Given the description of an element on the screen output the (x, y) to click on. 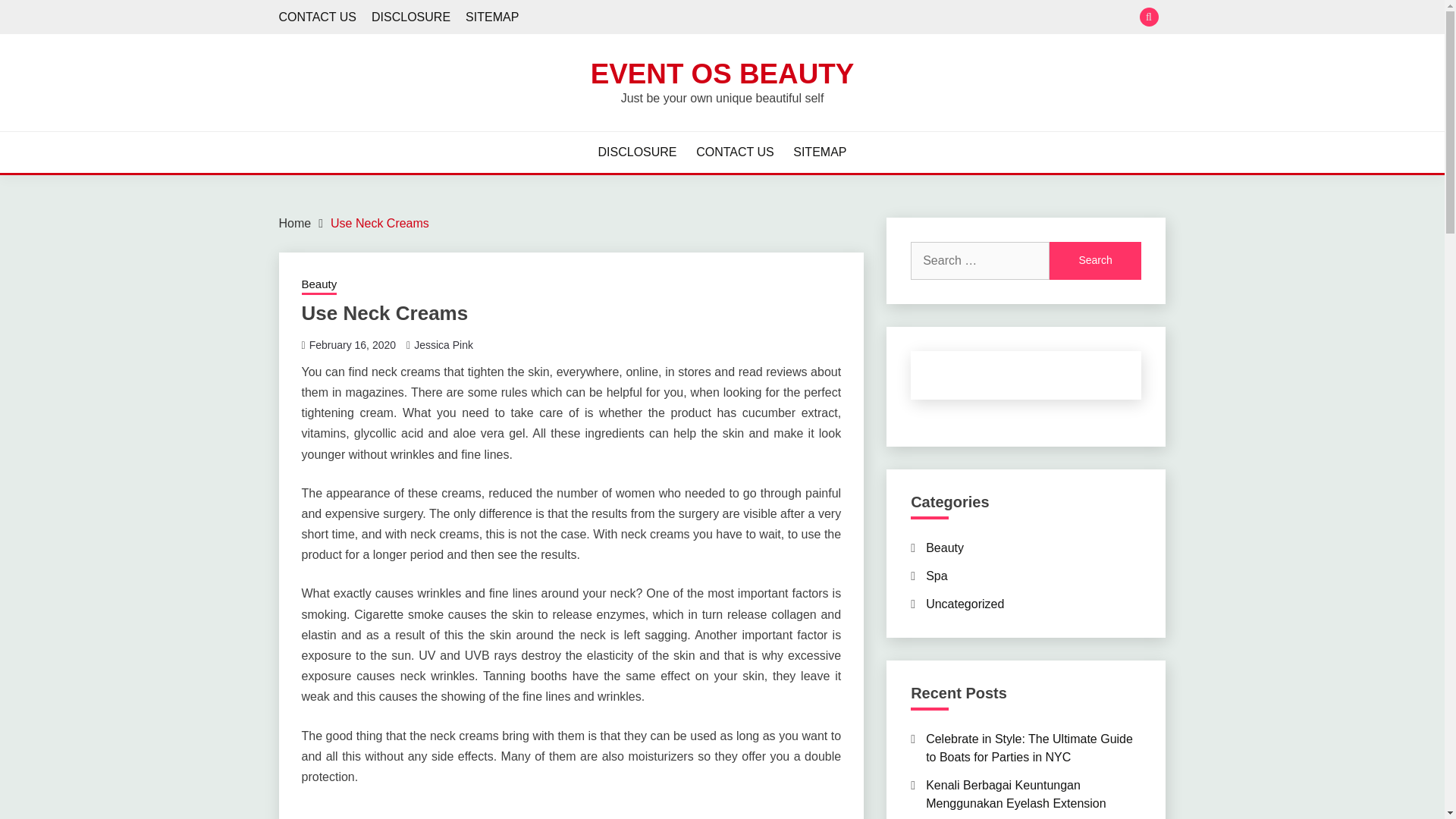
SITEMAP (491, 16)
Home (295, 223)
Beauty (319, 285)
SITEMAP (819, 152)
Search (1095, 260)
February 16, 2020 (352, 345)
Kenali Berbagai Keuntungan Menggunakan Eyelash Extension (1016, 793)
Use Neck Creams (379, 223)
DISCLOSURE (410, 16)
DISCLOSURE (636, 152)
EVENT OS BEAUTY (722, 73)
Jessica Pink (443, 345)
Search (1095, 260)
CONTACT US (734, 152)
